Given the description of an element on the screen output the (x, y) to click on. 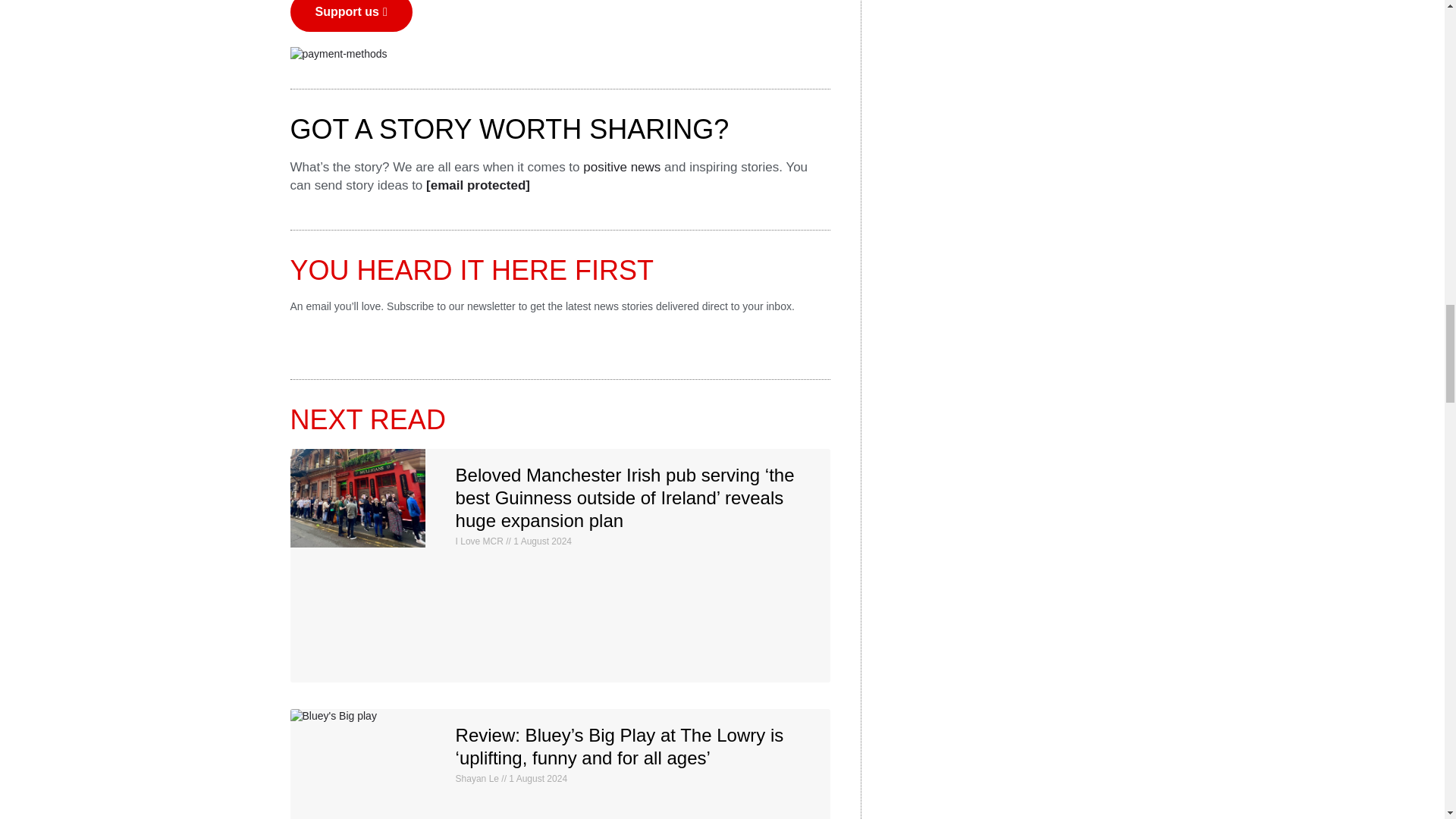
payment-methods (338, 54)
